Given the description of an element on the screen output the (x, y) to click on. 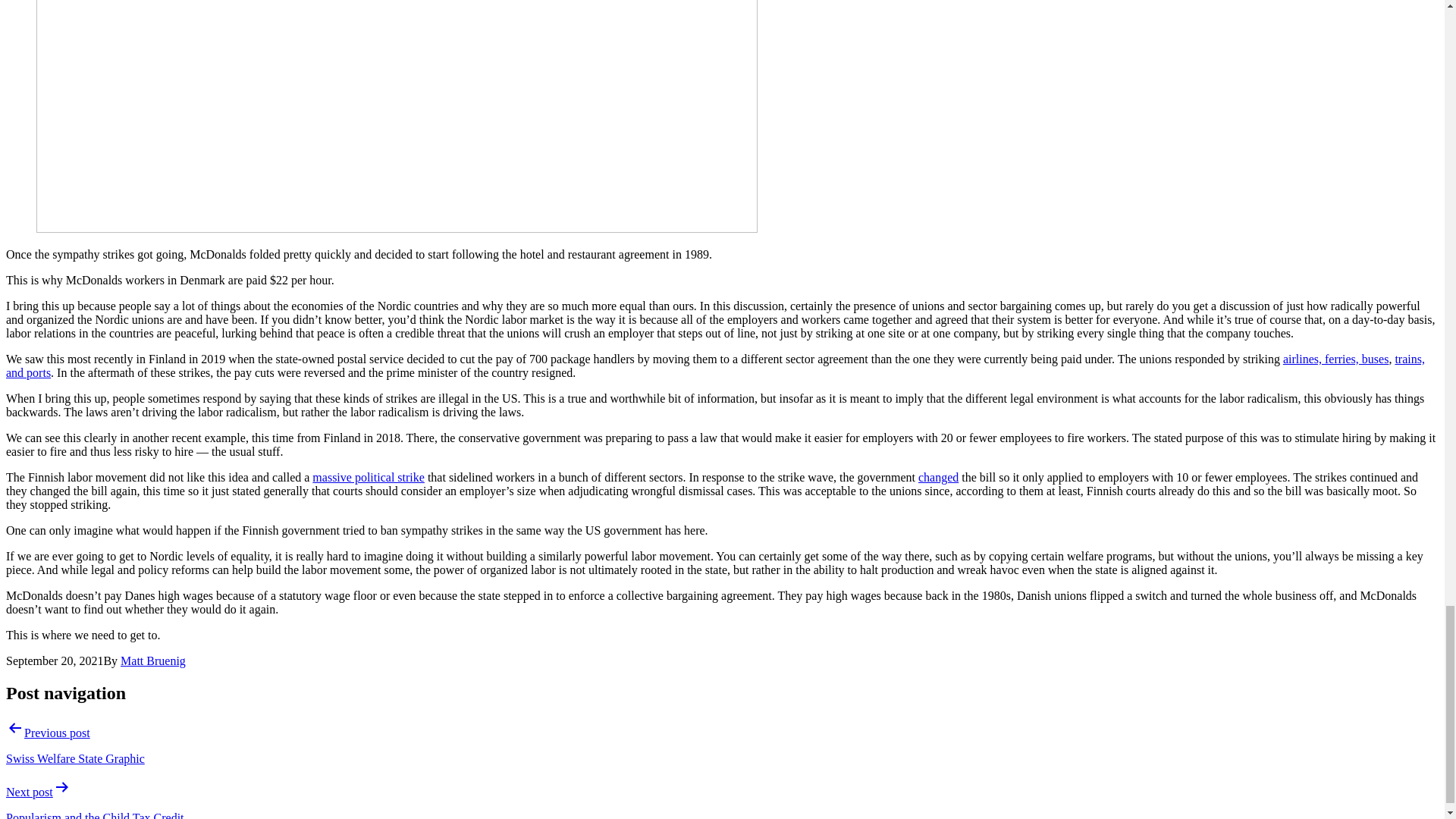
airlines, ferries, buses (1335, 358)
trains, and ports (715, 365)
massive political strike (369, 477)
Matt Bruenig (153, 660)
changed (938, 477)
